Given the description of an element on the screen output the (x, y) to click on. 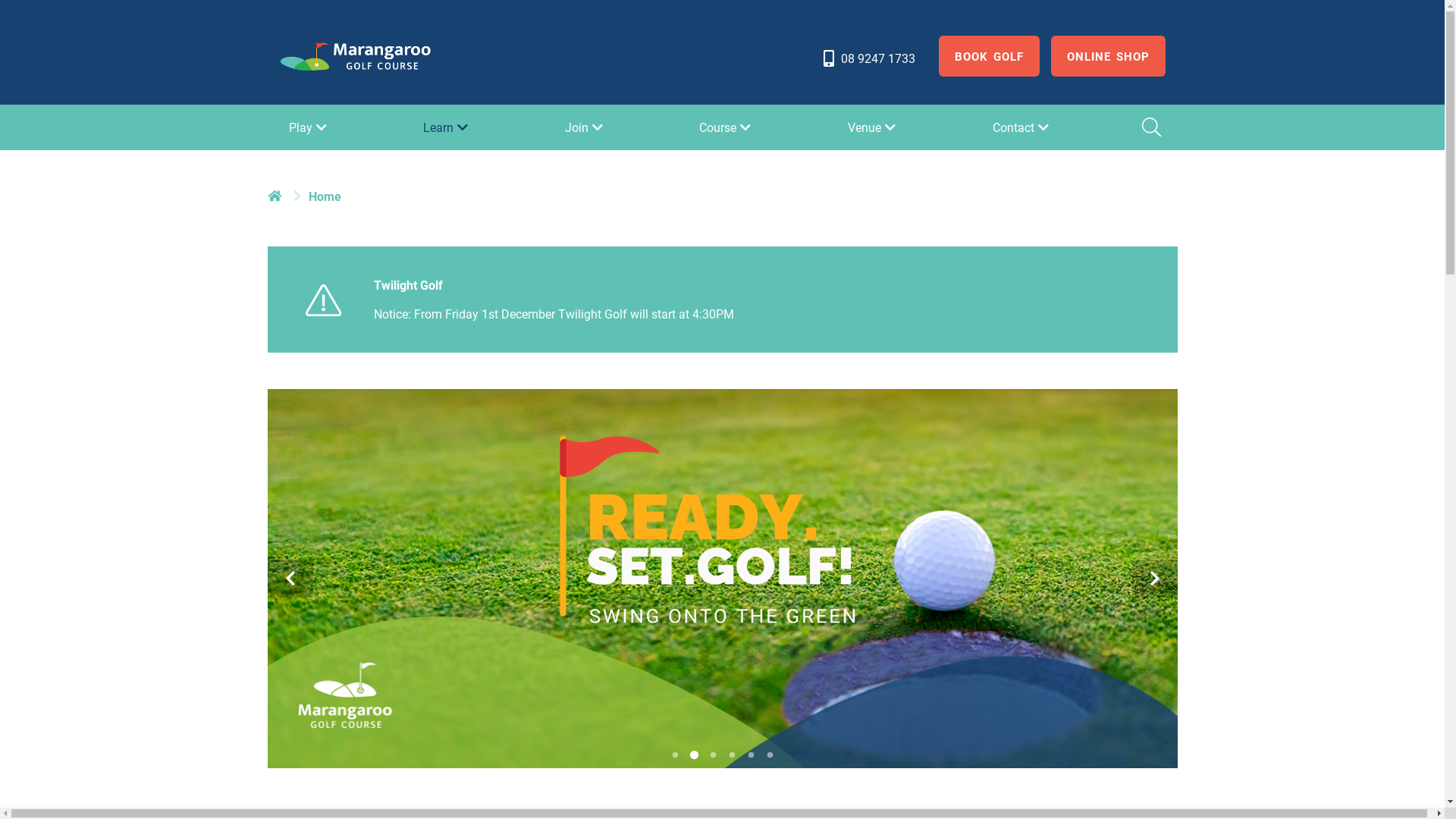
ONLINE SHOP Element type: text (1108, 55)
Play Element type: text (308, 127)
08 9247 1733 Element type: text (867, 58)
Course Element type: text (726, 127)
Search Element type: text (1150, 127)
VIEW OUR COURSE Element type: text (254, 631)
Next Element type: text (1153, 578)
Venue Element type: text (873, 127)
Learn Element type: text (447, 127)
BOOK GOLF Element type: text (988, 55)
Join Element type: text (585, 127)
  Element type: text (275, 195)
Prev Element type: text (289, 578)
Contact Element type: text (1022, 127)
